Given the description of an element on the screen output the (x, y) to click on. 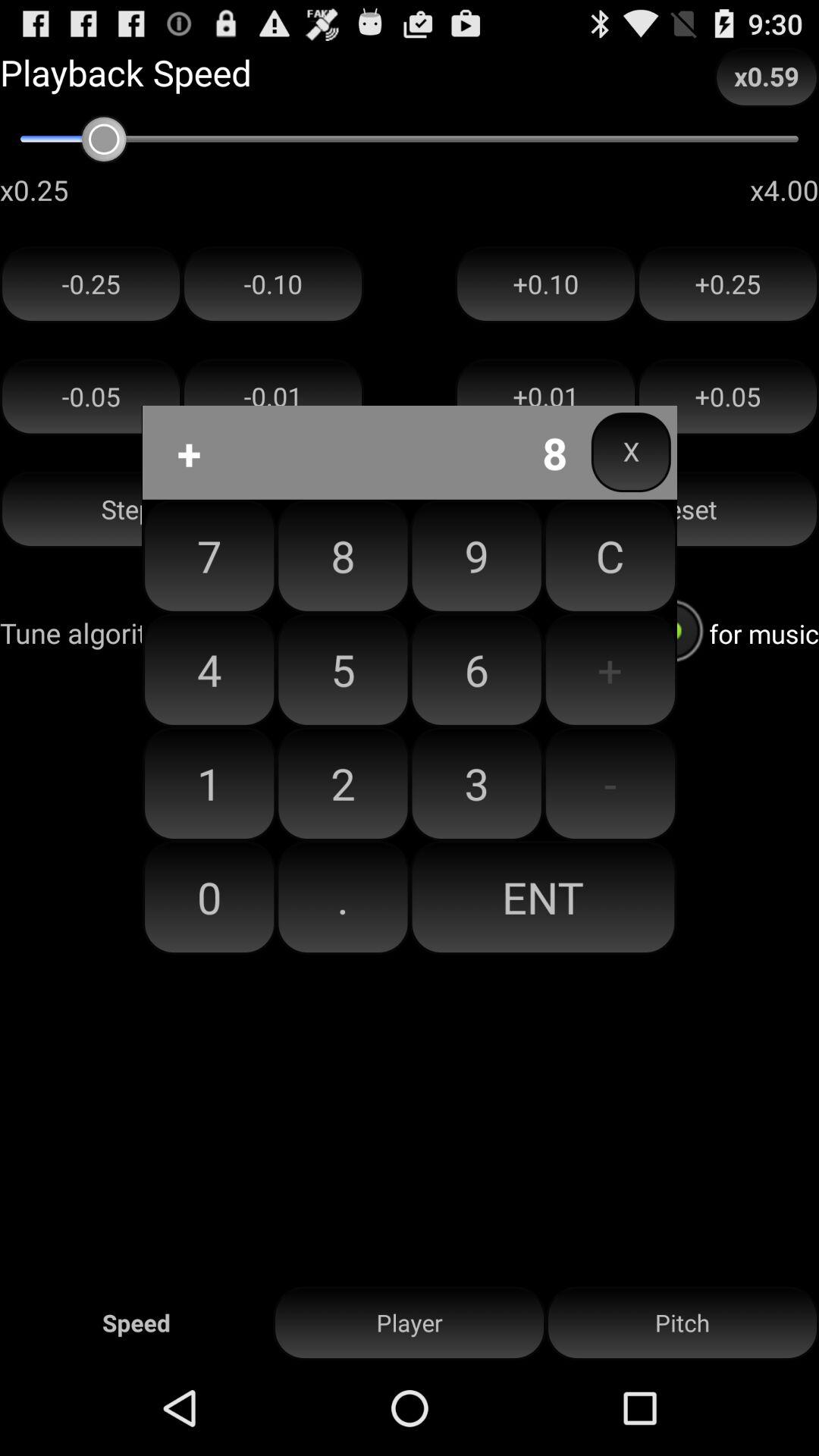
open item to the left of the c button (476, 669)
